Given the description of an element on the screen output the (x, y) to click on. 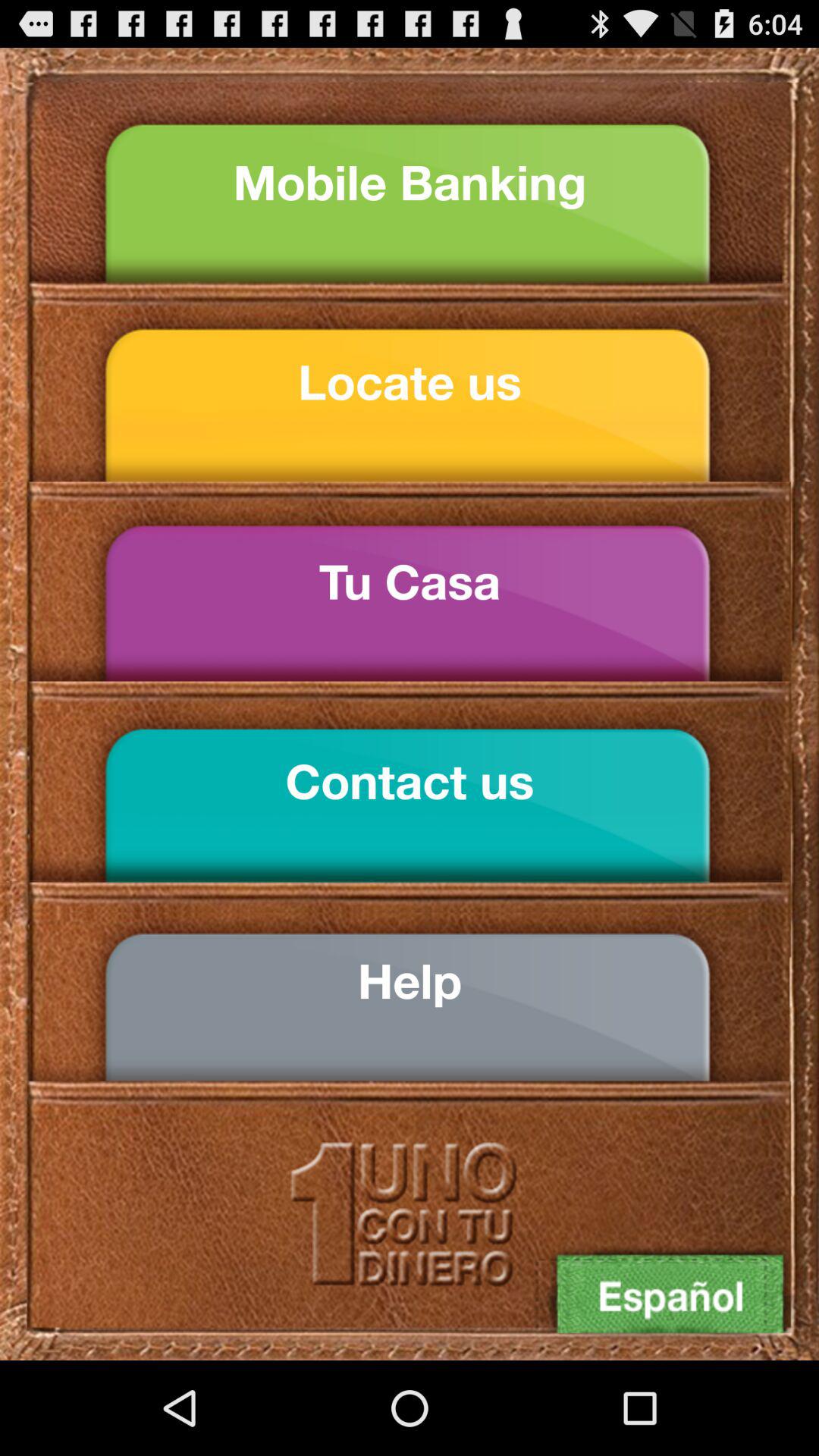
tap the help (409, 980)
